Given the description of an element on the screen output the (x, y) to click on. 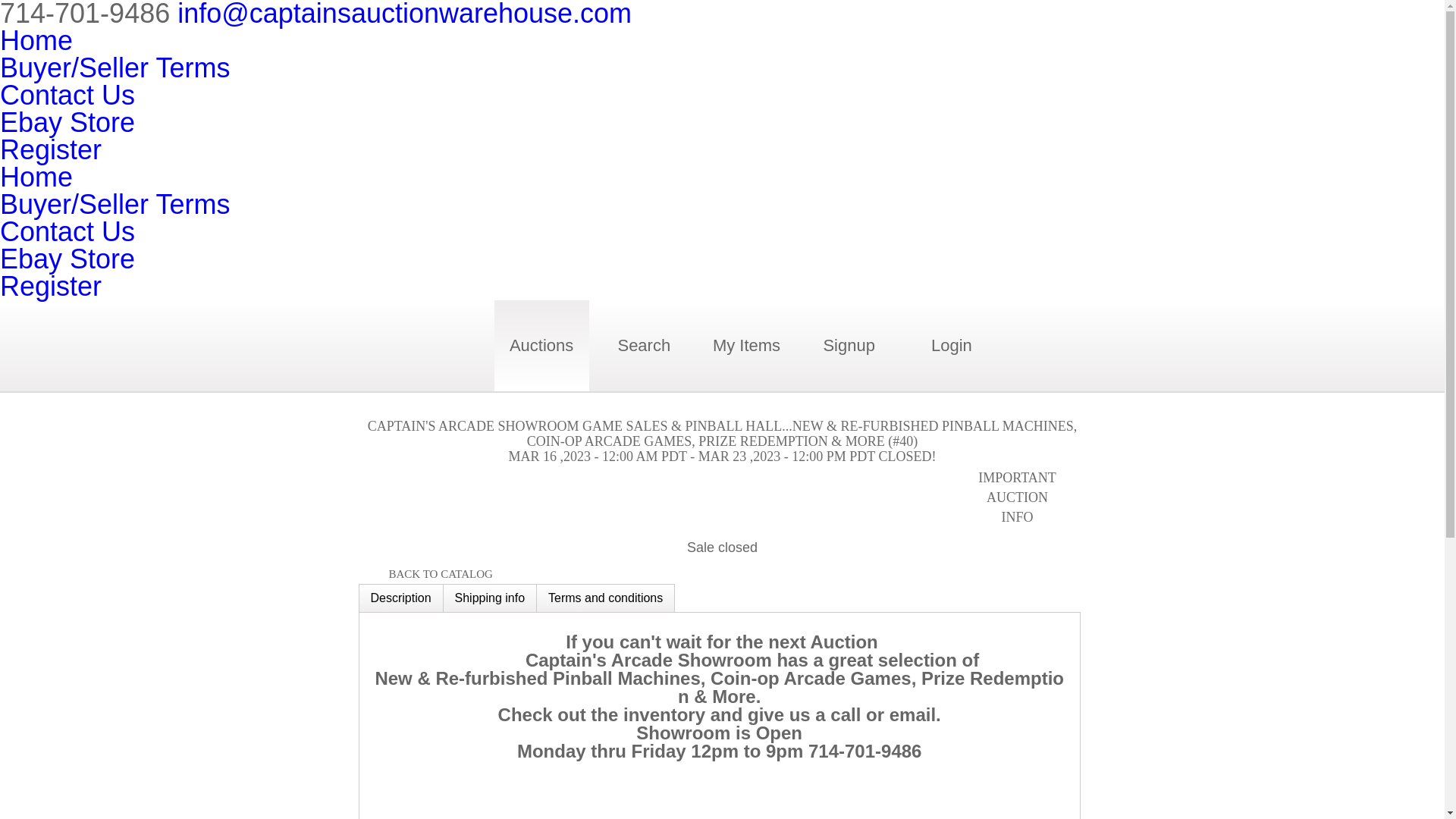
My Items (746, 345)
Register (50, 149)
BACK TO CATALOG (425, 573)
Signup (848, 345)
Shipping info (489, 597)
Home (36, 176)
My Items (745, 345)
Signup (849, 345)
Contact Us (67, 94)
Auctions (541, 345)
Register (50, 286)
Login (951, 345)
Description (400, 597)
Login (950, 345)
Home (36, 40)
